Given the description of an element on the screen output the (x, y) to click on. 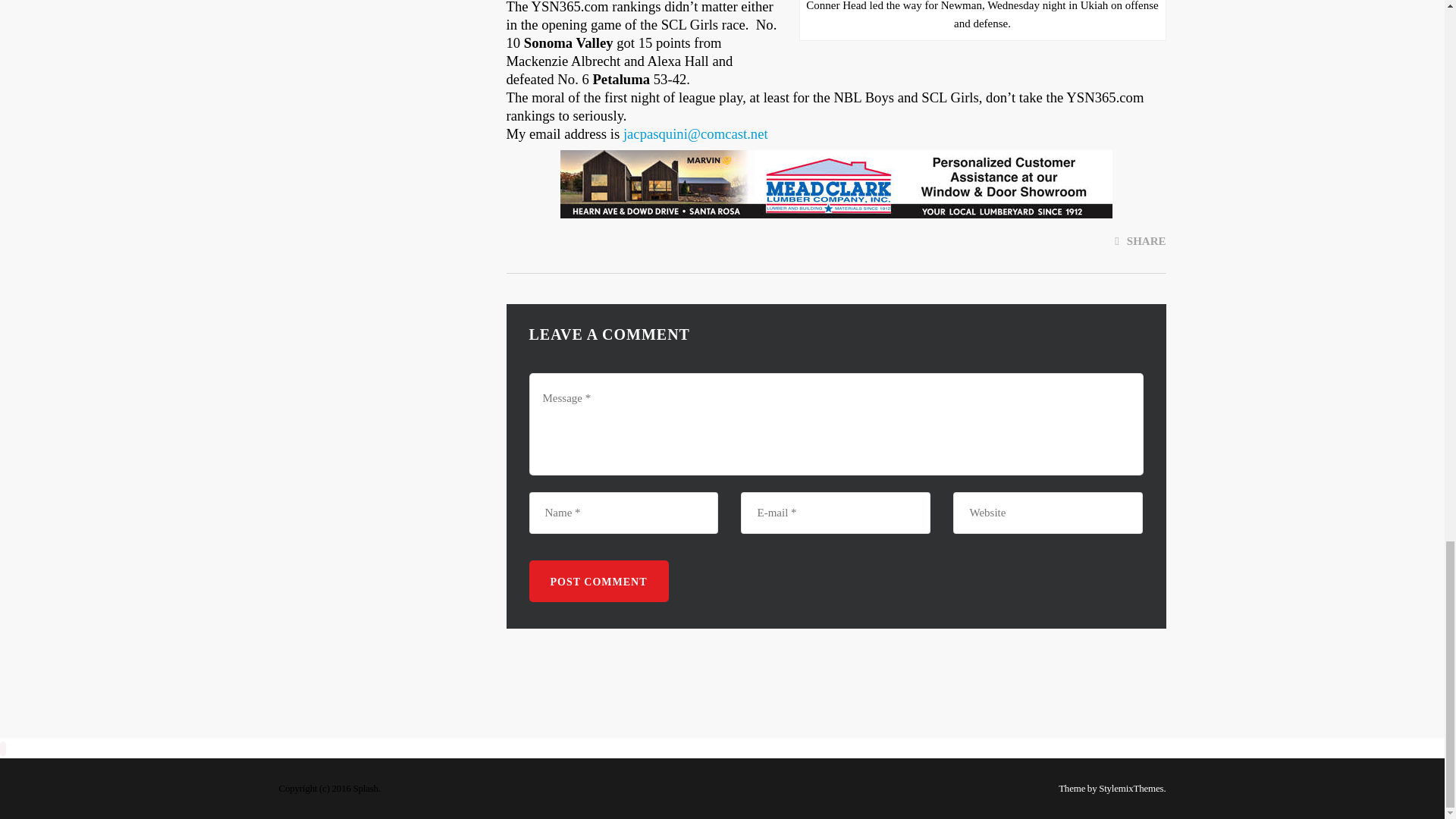
Post Comment (598, 580)
